Given the description of an element on the screen output the (x, y) to click on. 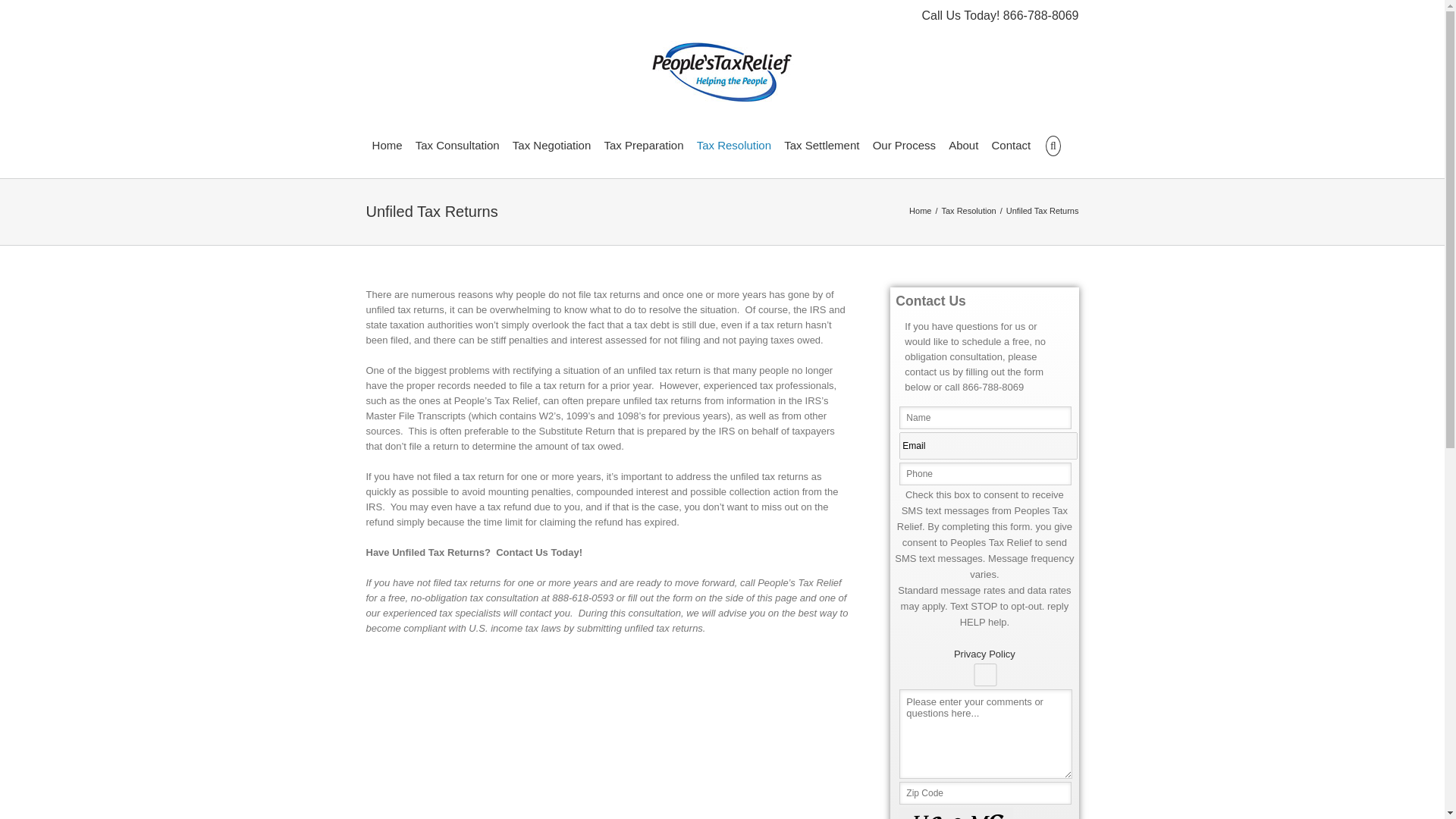
Our Process (904, 143)
Tax Settlement (821, 143)
Tax Negotiation (551, 143)
Email (988, 445)
Zip Code (984, 793)
Name (984, 417)
Tax Resolution (969, 210)
Phone (984, 473)
Checkbox (984, 674)
Tax Consultation (456, 143)
Tax Resolution (734, 143)
Tax Preparation (643, 143)
